Given the description of an element on the screen output the (x, y) to click on. 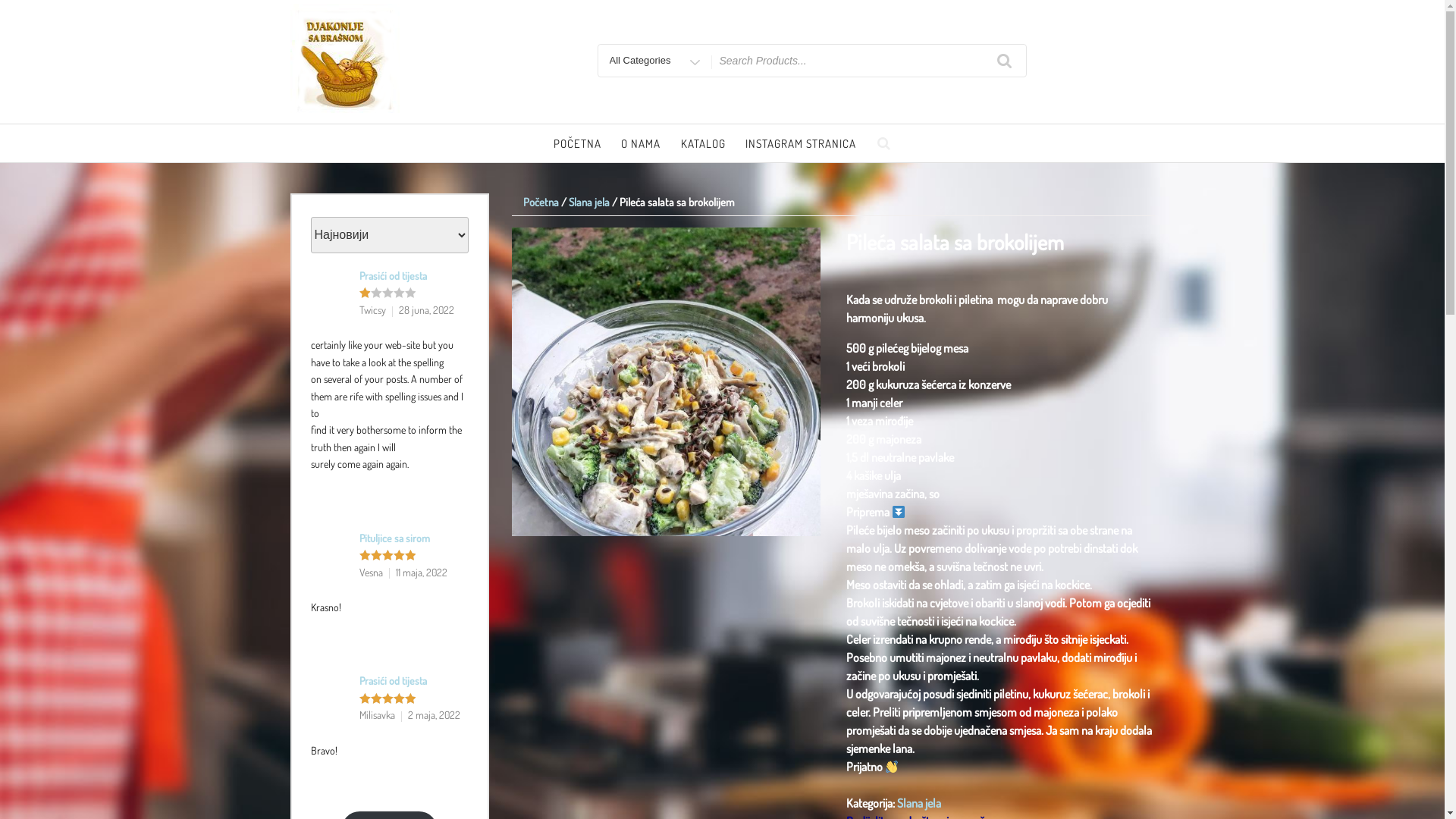
Slana jela Element type: text (919, 802)
INSTAGRAM STRANICA Element type: text (801, 144)
O NAMA Element type: text (640, 144)
KATALOG Element type: text (702, 144)
Pituljice sa sirom Element type: text (394, 537)
242747770_994754201083272_4213331676280583195_n Element type: hover (665, 381)
Slana jela Element type: text (588, 201)
